Given the description of an element on the screen output the (x, y) to click on. 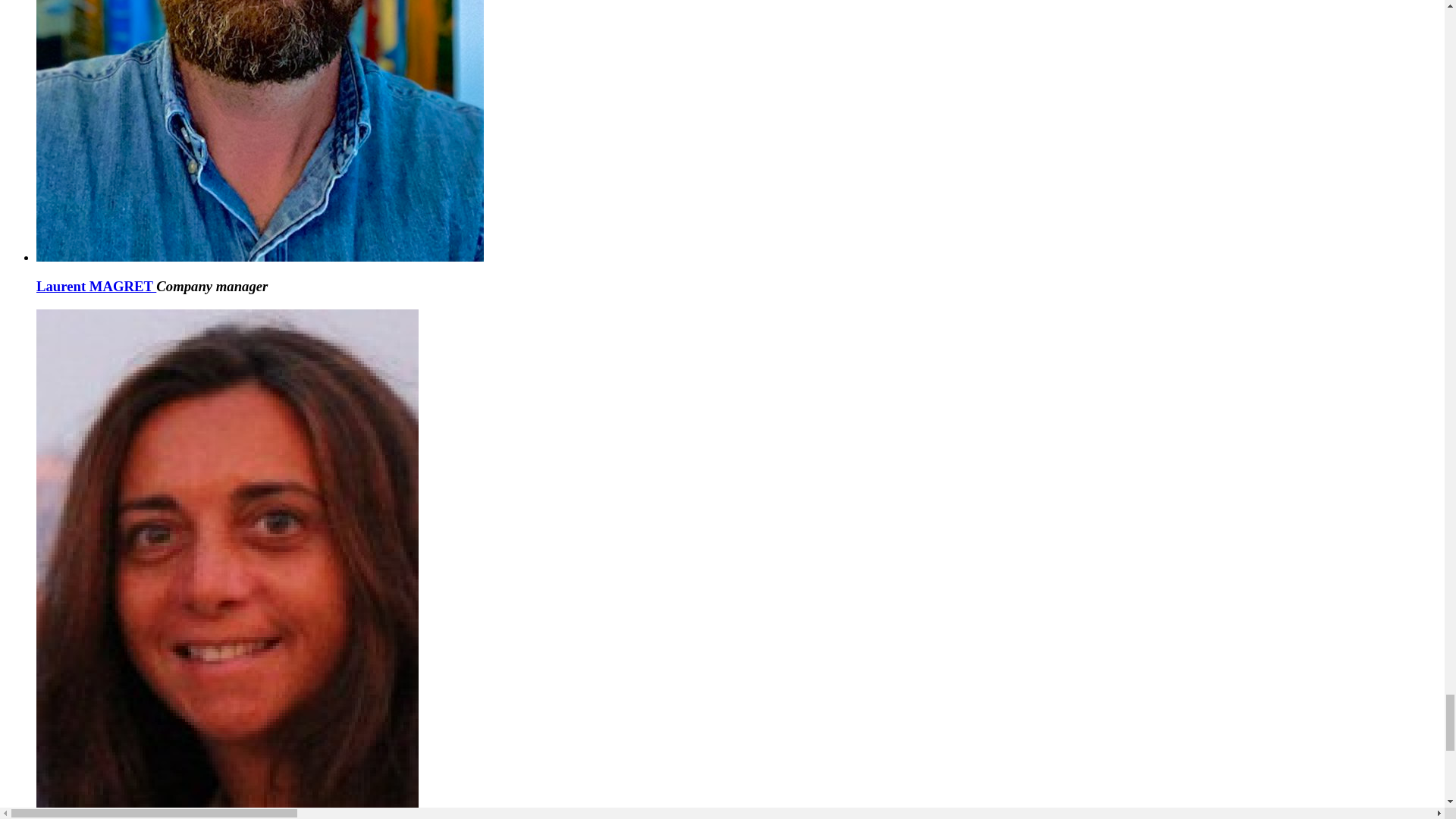
Laurent MAGRET (95, 286)
